Given the description of an element on the screen output the (x, y) to click on. 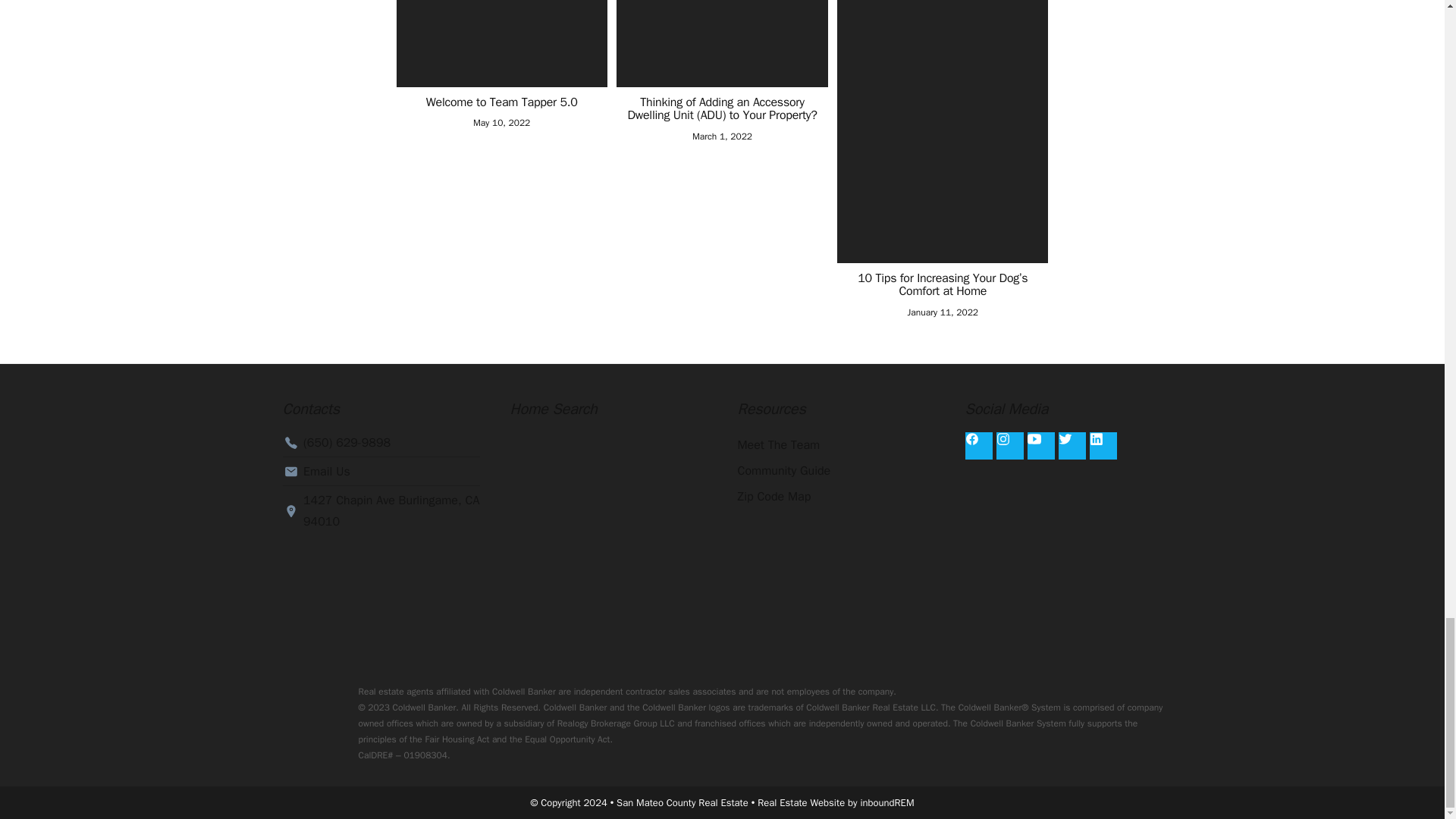
Zip Code Map (835, 496)
Meet The Team (835, 444)
1427 Chapin Ave Burlingame, CA 94010 (380, 510)
Welcome to Team Tapper 5.0 (500, 102)
Email Us (380, 471)
Community Guide (835, 470)
DMCA.com Protection Status (835, 580)
